Given the description of an element on the screen output the (x, y) to click on. 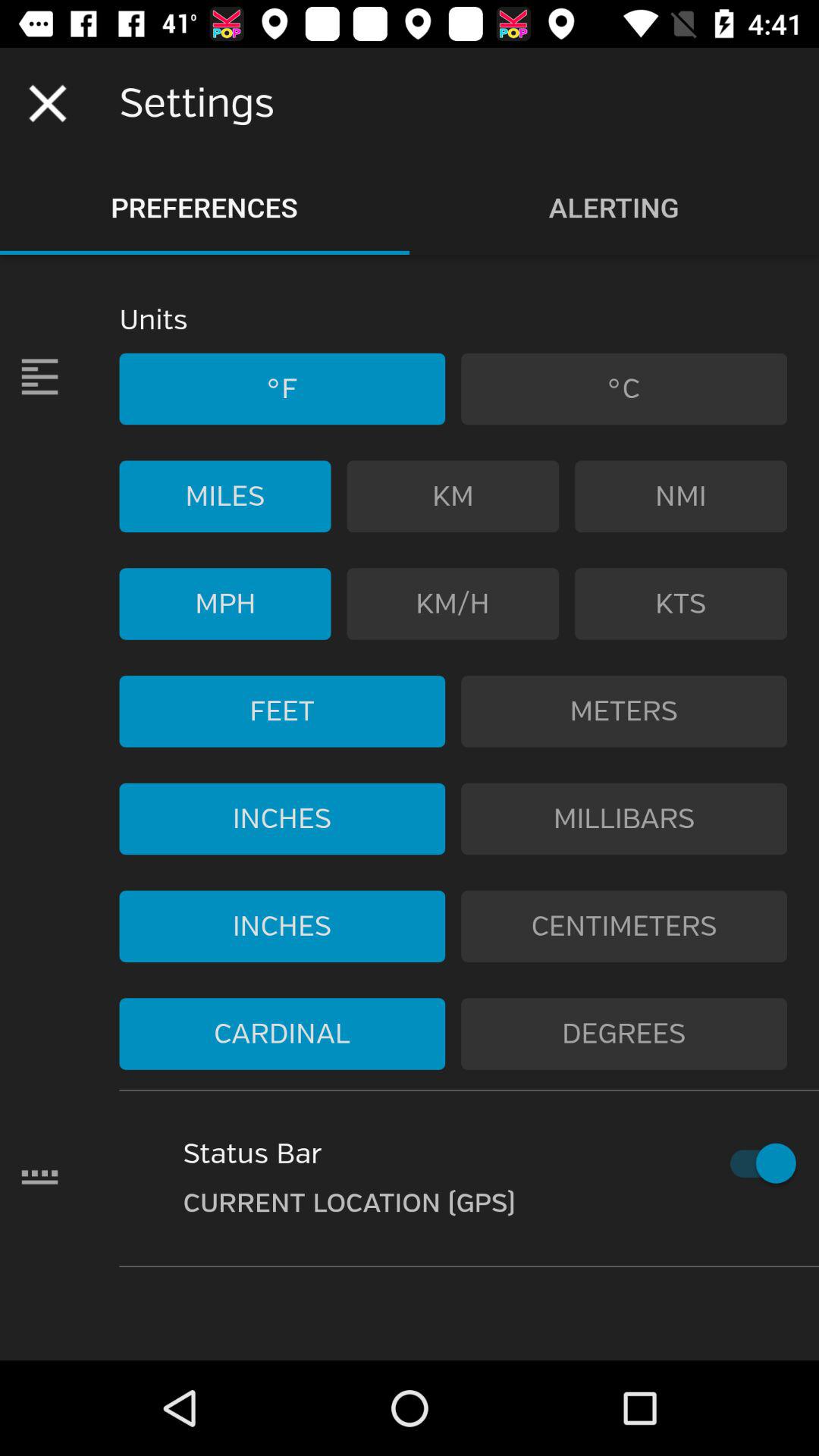
select the item next to the km item (681, 496)
